Given the description of an element on the screen output the (x, y) to click on. 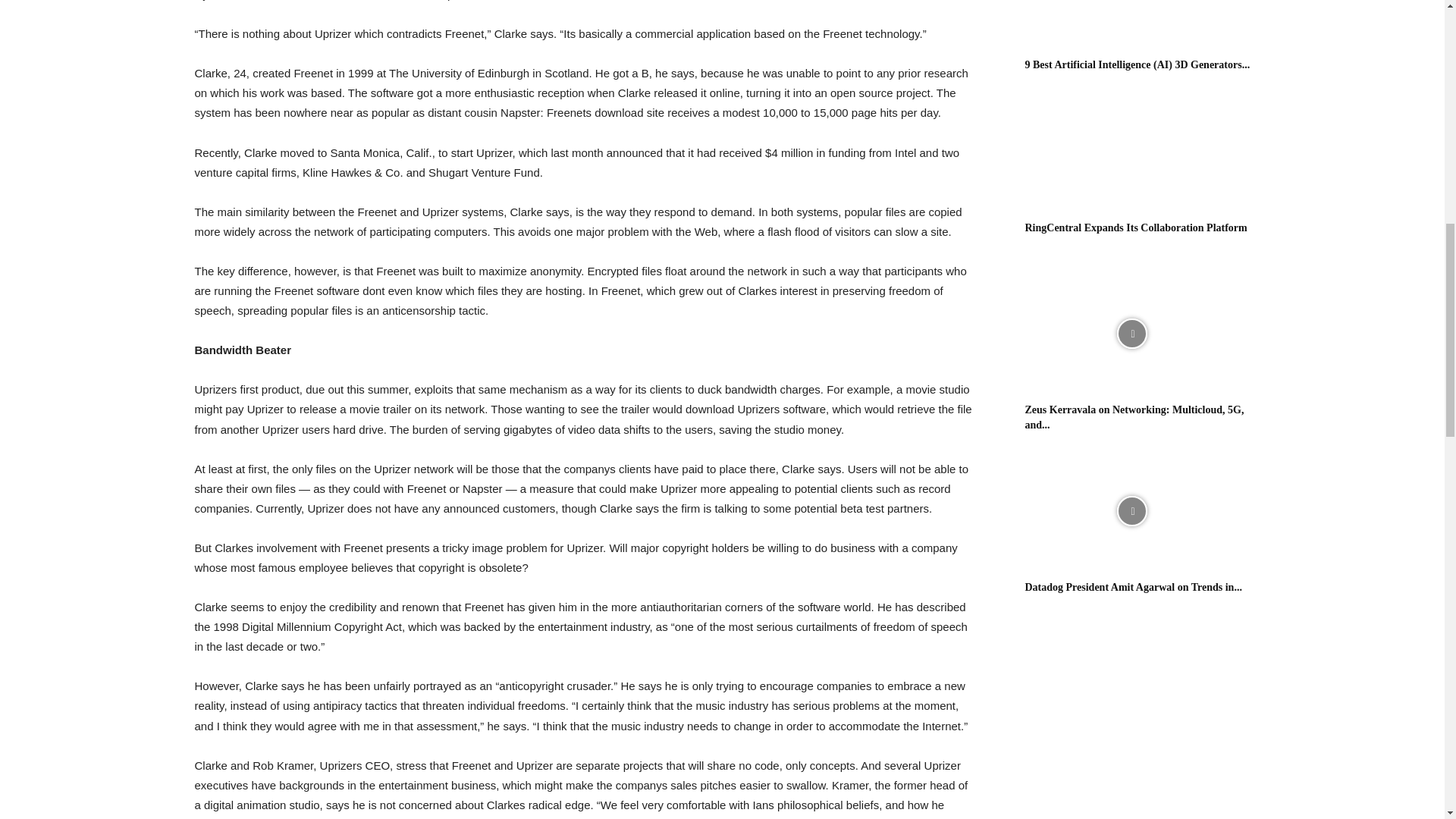
Zeus Kerravala on Networking: Multicloud, 5G, and Automation (1134, 417)
Zeus Kerravala on Networking: Multicloud, 5G, and Automation (1131, 333)
RingCentral Expands Its Collaboration Platform (1131, 151)
RingCentral Expands Its Collaboration Platform (1136, 227)
